Given the description of an element on the screen output the (x, y) to click on. 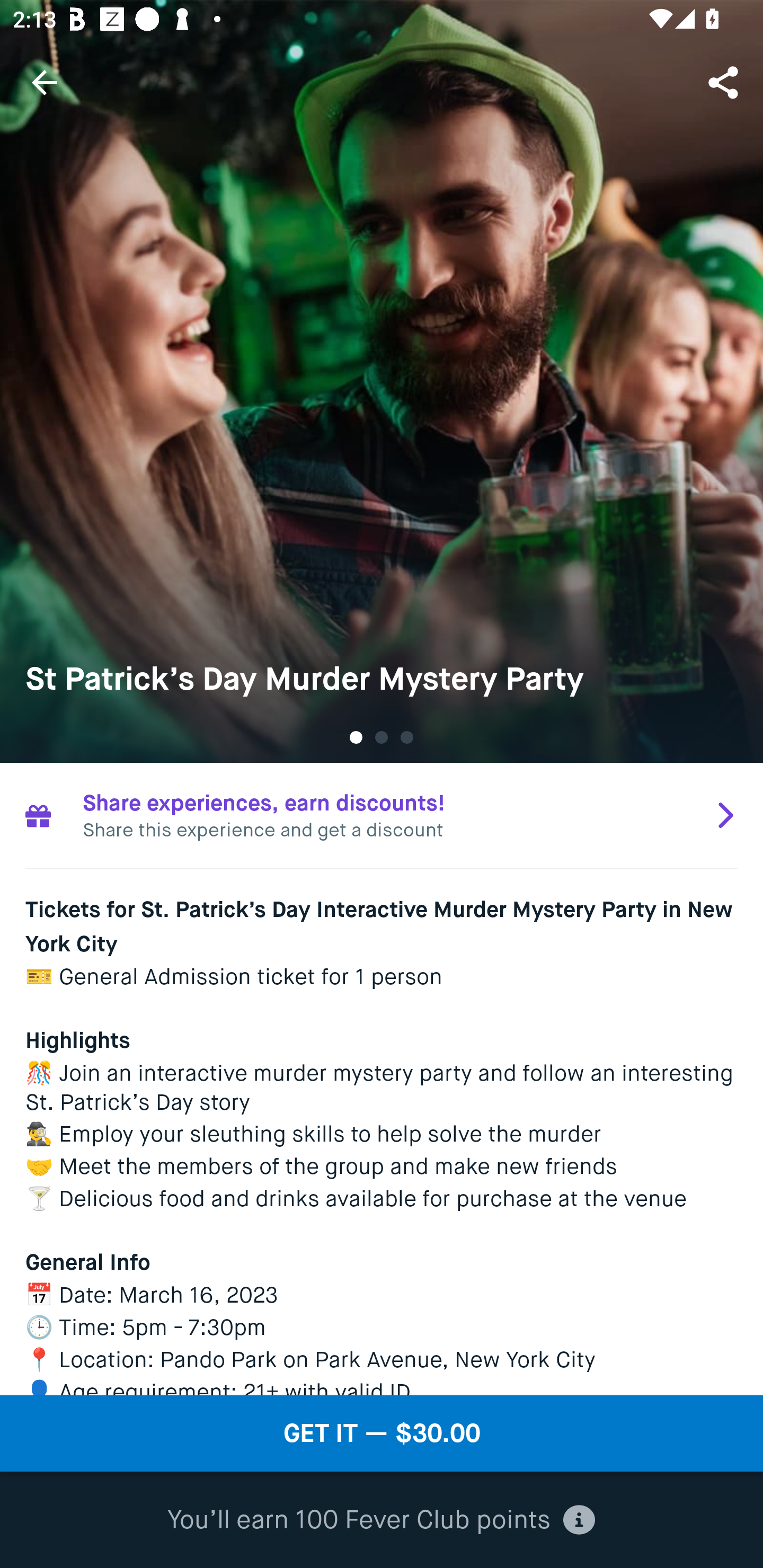
Navigate up (44, 82)
Share (724, 81)
GET IT — $30.00 (381, 1433)
You’ll earn 100 Fever Club points (381, 1519)
